Given the description of an element on the screen output the (x, y) to click on. 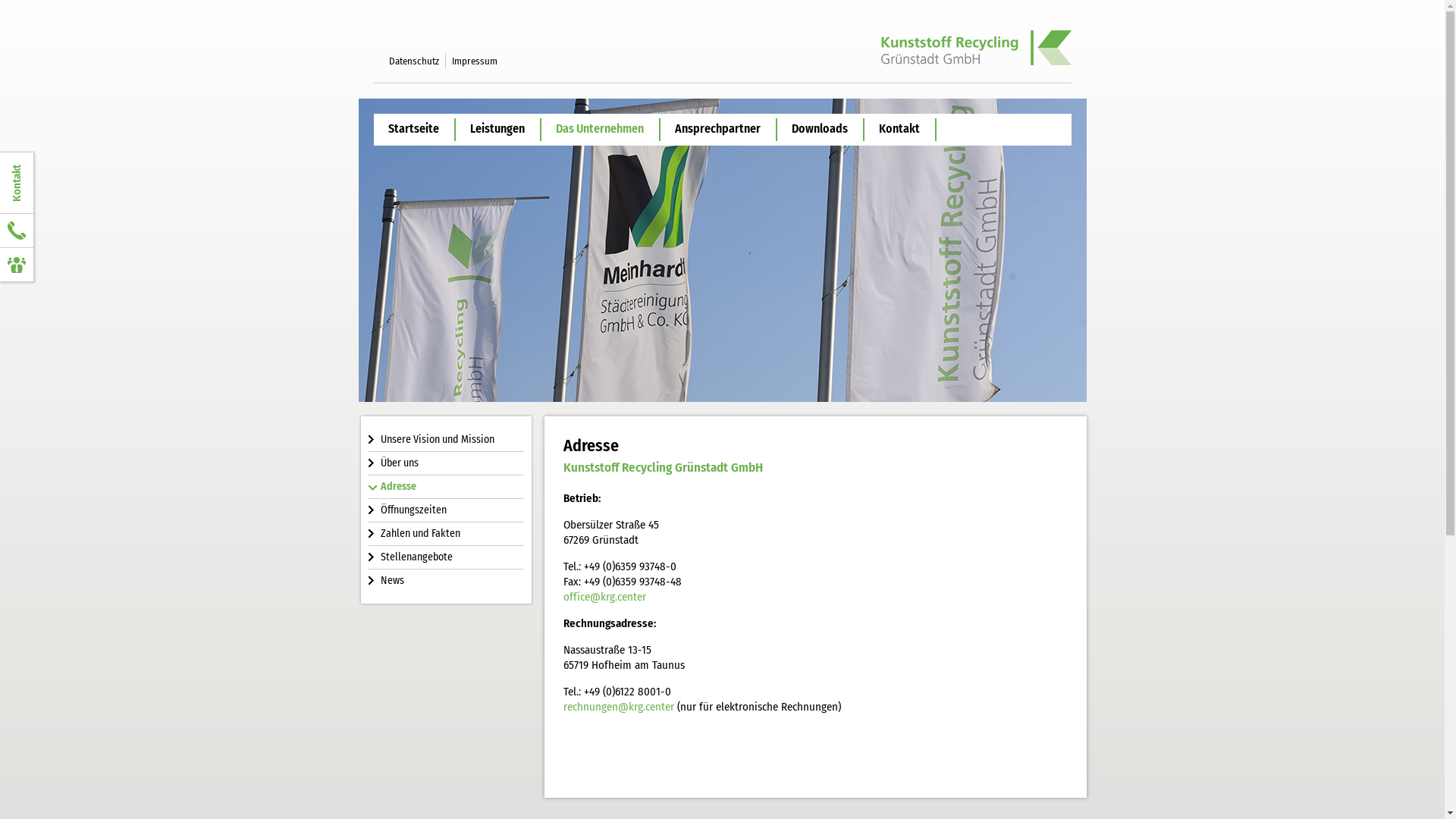
Impressum Element type: text (474, 60)
Datenschutz Element type: text (413, 60)
Ansprechpartner Element type: text (717, 129)
Downloads Element type: text (819, 129)
Leistungen Element type: text (497, 129)
Startseite Element type: text (413, 129)
Adresse Element type: text (446, 486)
Das Unternehmen Element type: text (599, 129)
Kontakt Element type: text (899, 129)
Stellenangebote Element type: text (446, 556)
rechnungen@krg.center Element type: text (617, 706)
News Element type: text (446, 580)
Zahlen und Fakten Element type: text (446, 533)
Unsere Vision und Mission Element type: text (446, 439)
office@krg.center Element type: text (603, 596)
